Given the description of an element on the screen output the (x, y) to click on. 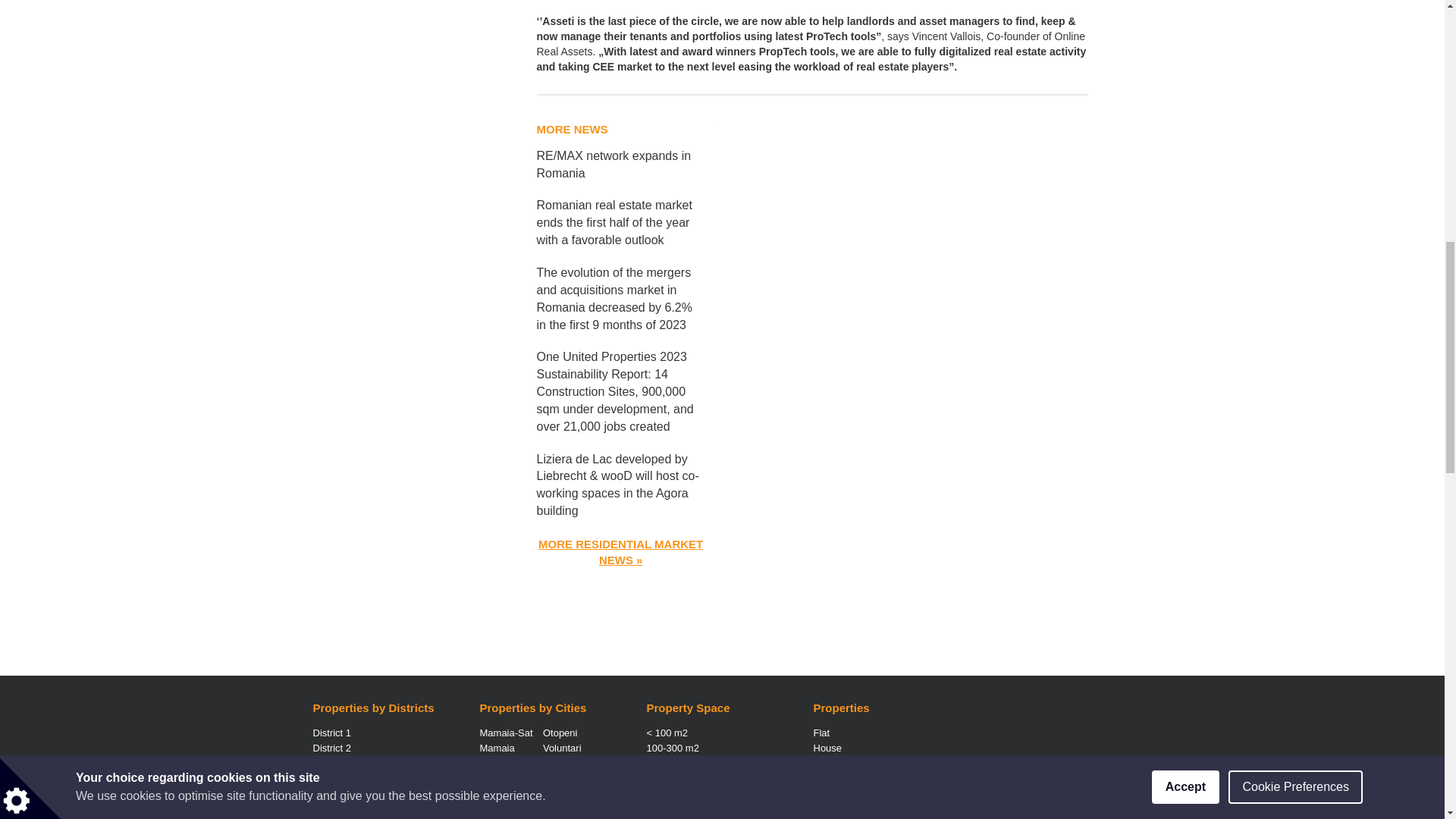
Properties in Valcele (495, 763)
Property for Rent in the District 2 (331, 747)
District 2 (331, 747)
District 3 (331, 763)
Mamaia (496, 747)
Properties in Mamaia (496, 747)
Properties in Mamaia-Sat (505, 732)
Property for Rent in the District 1 (331, 732)
Mamaia-Sat (505, 732)
MORE RESIDENTIAL MARKET NEWS (620, 552)
Valcele (495, 763)
District 1 (331, 732)
